Given the description of an element on the screen output the (x, y) to click on. 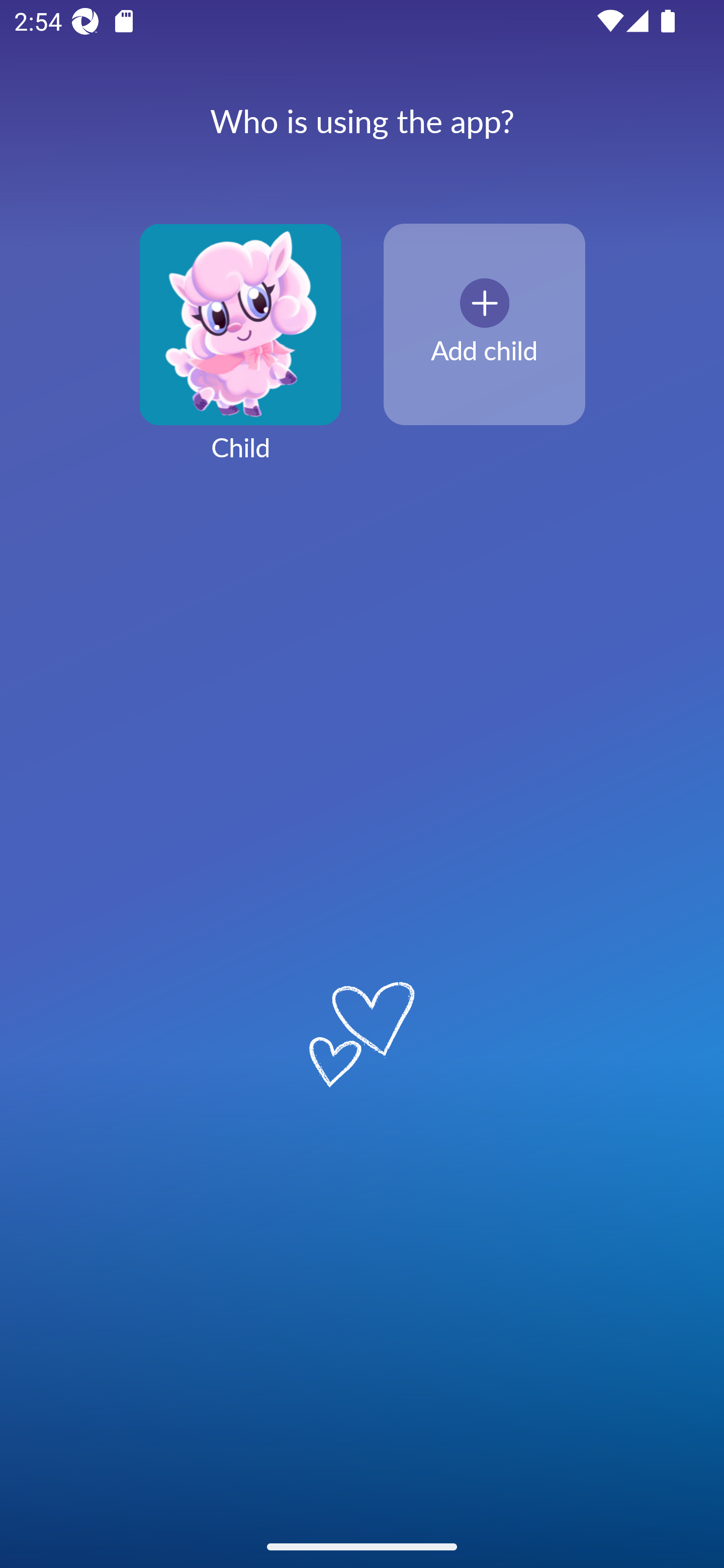
Child (240, 354)
Add child (483, 324)
